Given the description of an element on the screen output the (x, y) to click on. 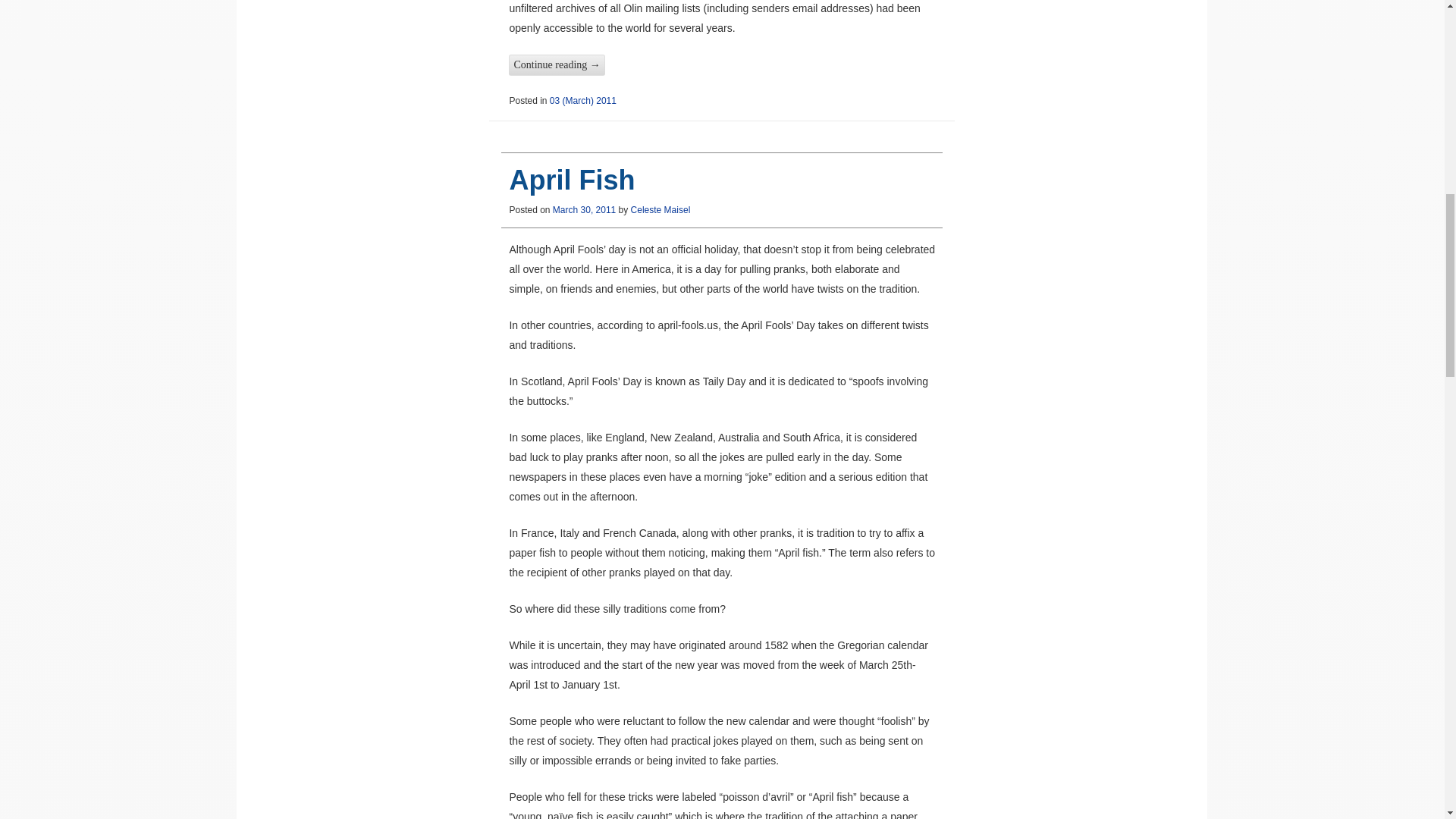
March 30, 2011 (584, 209)
22:31 (584, 209)
View all posts by Celeste Maisel (660, 209)
April Fish (571, 179)
Celeste Maisel (660, 209)
